Given the description of an element on the screen output the (x, y) to click on. 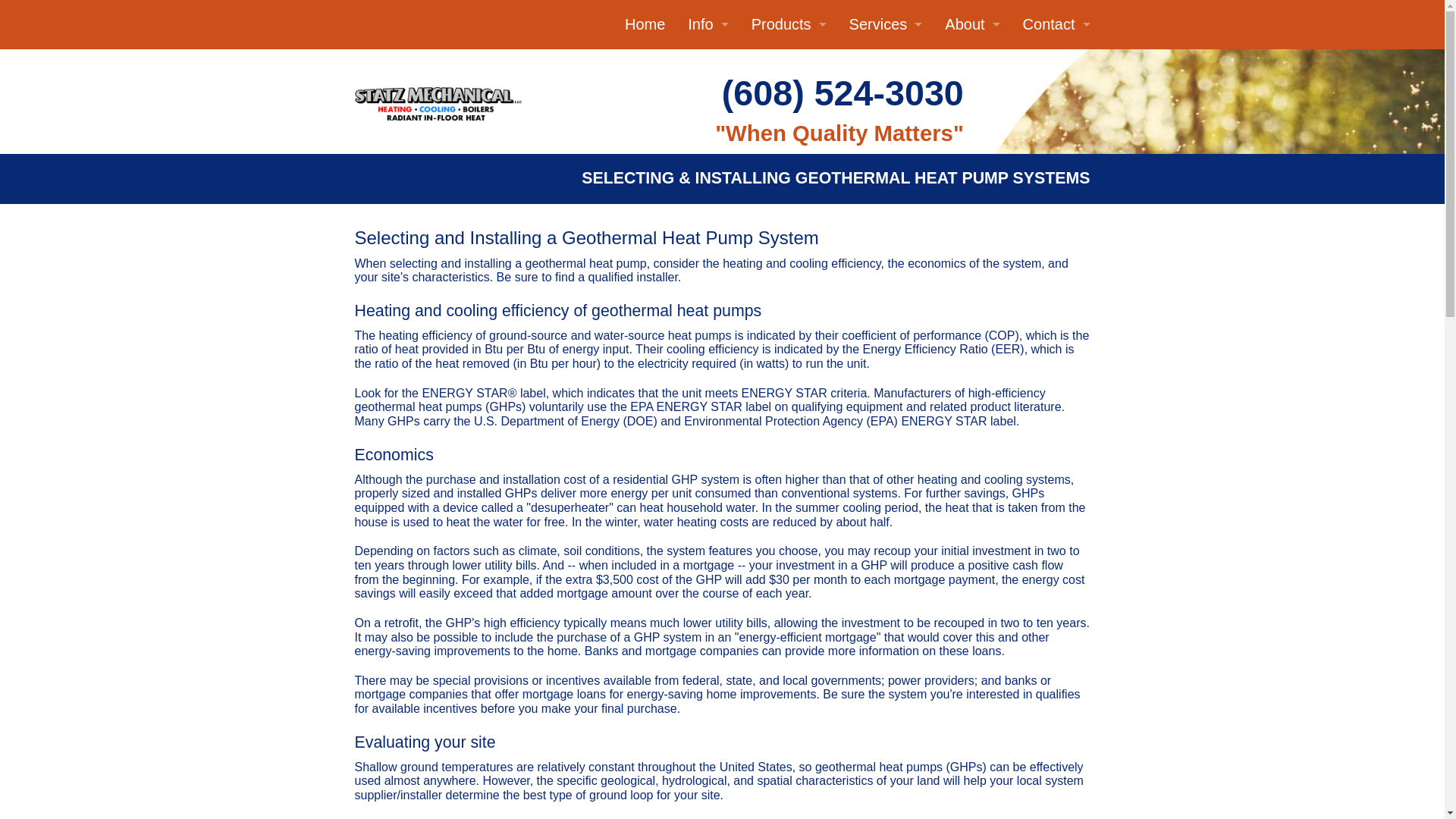
Heating Systems (646, 298)
Extended Warranty FAQs (646, 196)
How BTUs and EERs Work (646, 162)
Home (644, 24)
Info (708, 24)
General Information (707, 93)
Selecting an HVAC Contractor (646, 93)
Cooling Systems (646, 264)
FAQ (707, 59)
Interpreting the Sound Ratings of a Unit (646, 128)
Maintenance Checklist (646, 230)
